Given the description of an element on the screen output the (x, y) to click on. 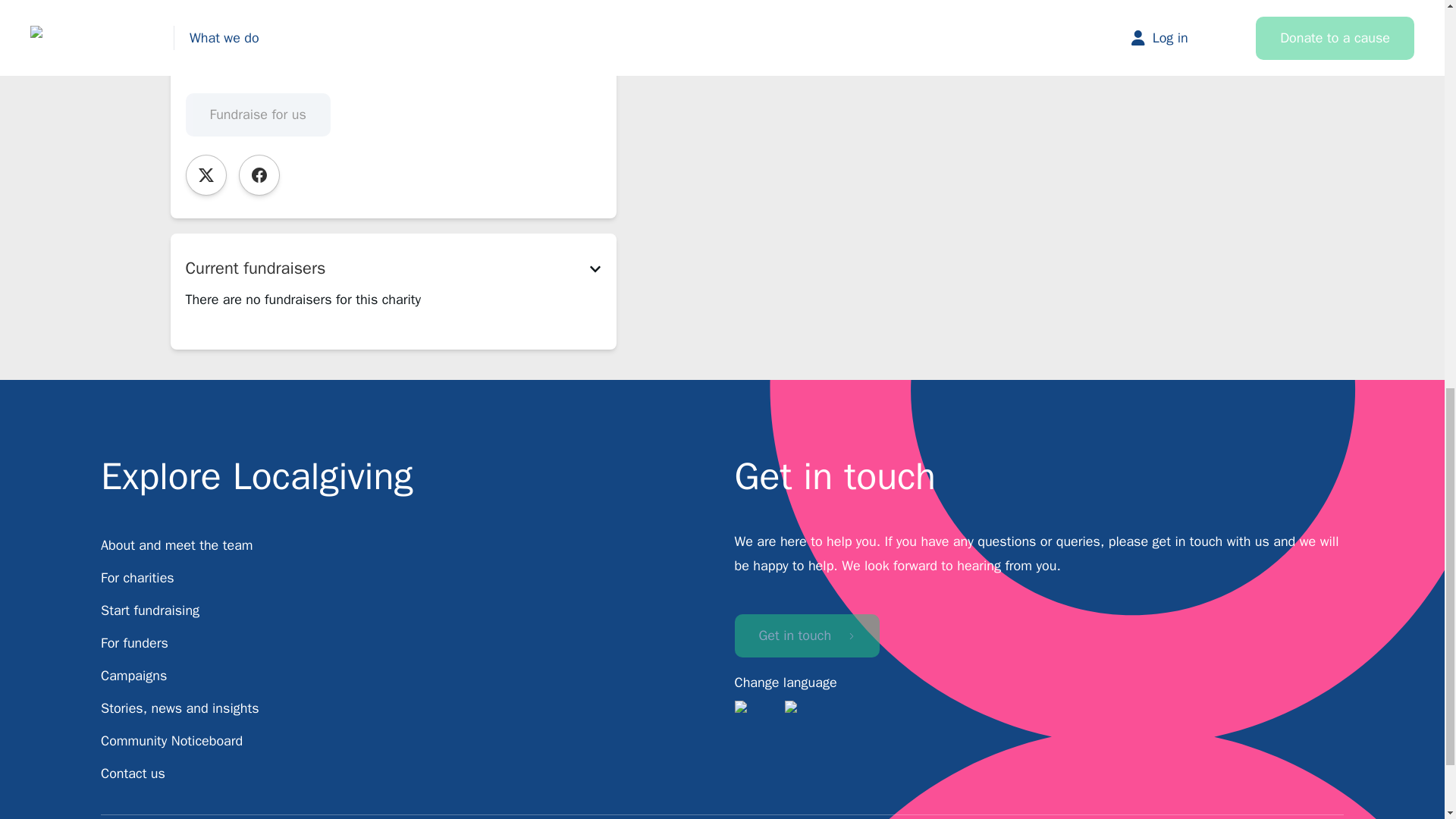
Welsh (806, 714)
About and meet the team (176, 545)
Stories, news and insights (179, 708)
Campaigns (133, 675)
Get in touch (806, 635)
English (755, 714)
For funders (134, 642)
Community Noticeboard (171, 740)
Fundraise for us (257, 114)
Start fundraising (149, 610)
Get in touch (806, 635)
Current fundraisers (391, 268)
For charities (137, 577)
Contact us (132, 773)
